Given the description of an element on the screen output the (x, y) to click on. 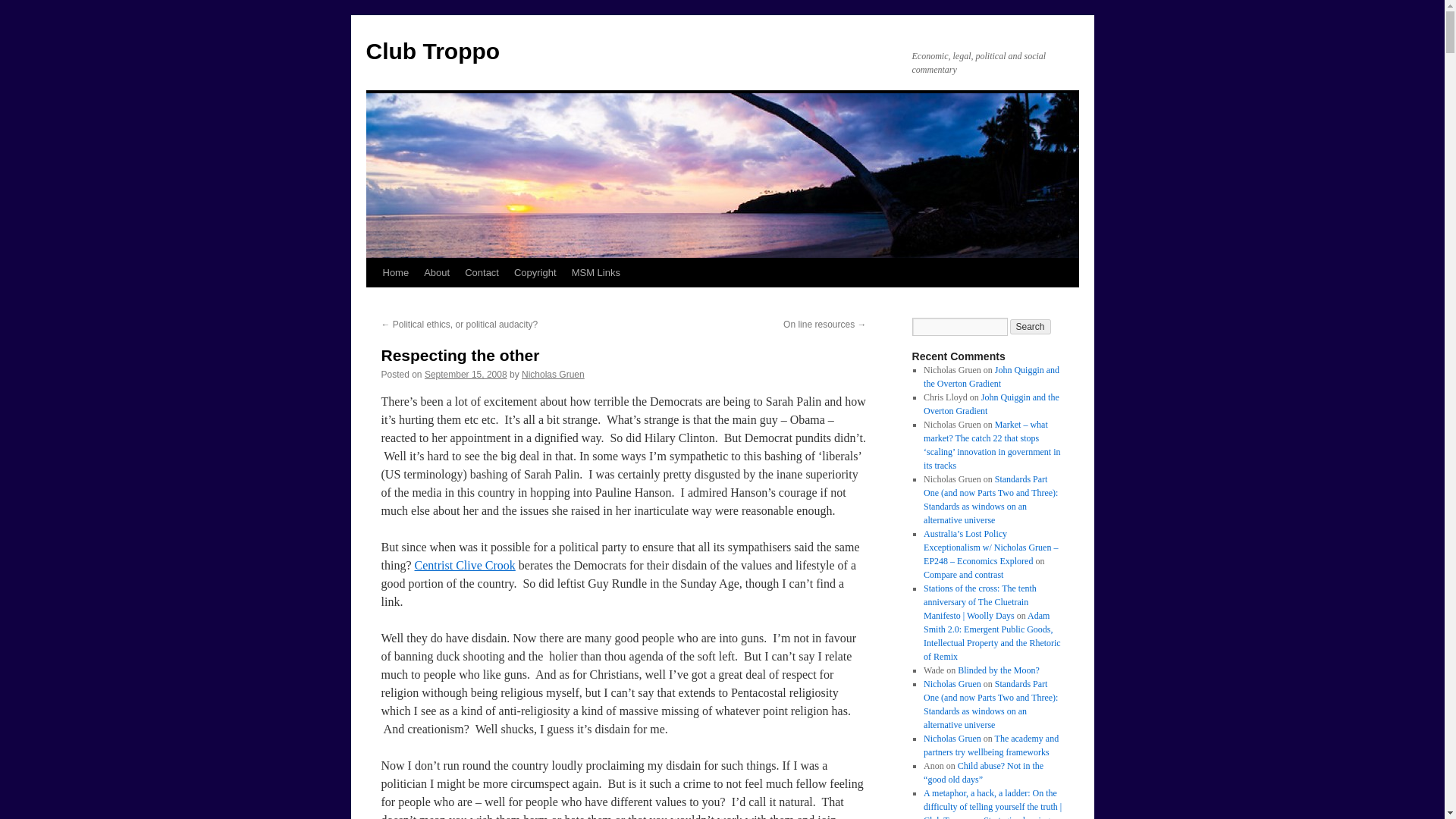
Club Troppo (432, 50)
Nicholas Gruen (553, 374)
8:08 pm (465, 374)
Copyright (535, 272)
MSM Links (595, 272)
View all posts by Nicholas Gruen (553, 374)
Club Troppo (432, 50)
Contact (481, 272)
About (436, 272)
Home (395, 272)
Centrist Clive Crook (464, 564)
Search (1030, 326)
September 15, 2008 (465, 374)
